Given the description of an element on the screen output the (x, y) to click on. 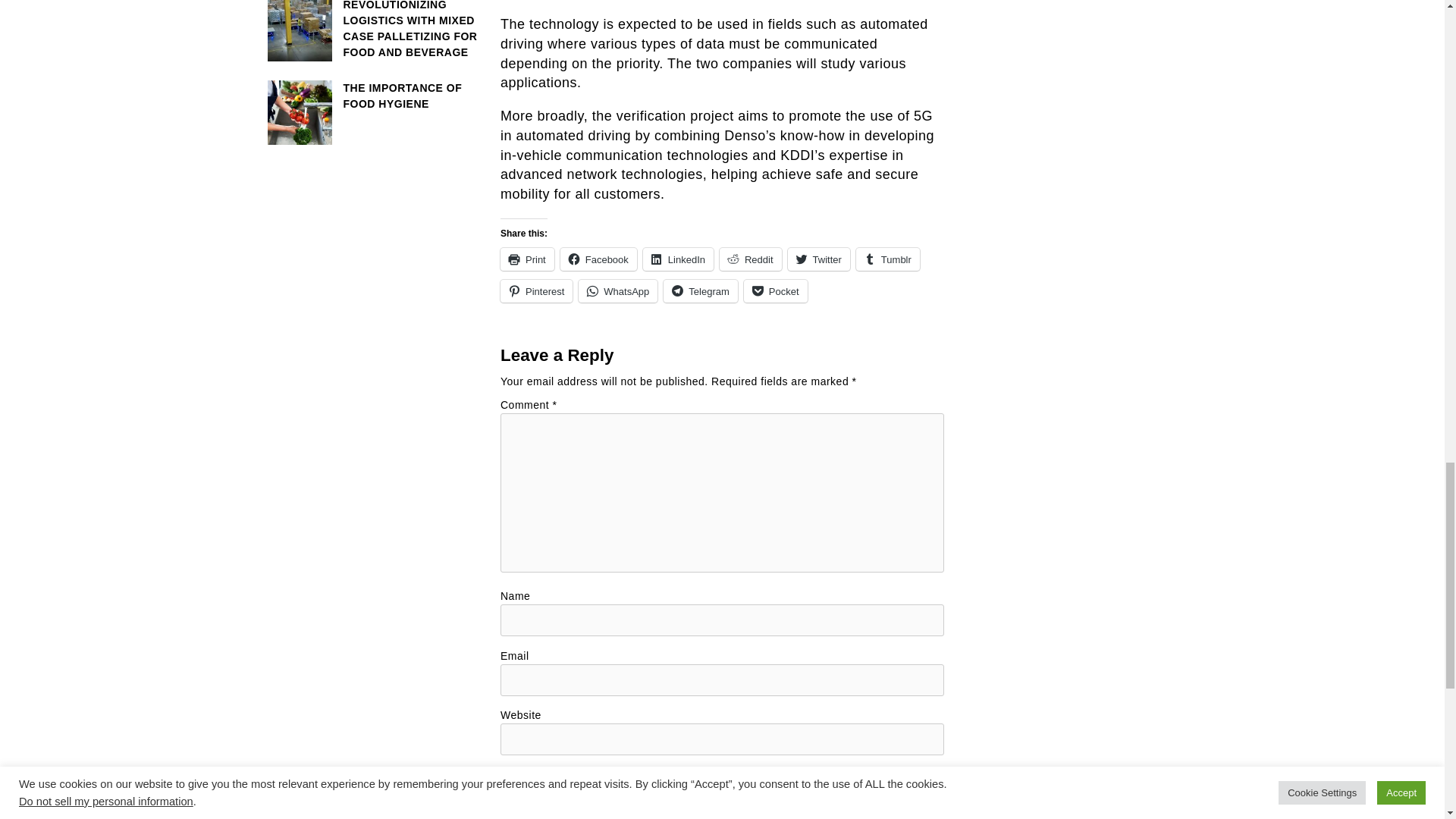
Click to share on Tumblr (888, 259)
Click to share on Reddit (750, 259)
Click to share on Facebook (598, 259)
Post Comment (721, 782)
Click to share on Telegram (699, 291)
Click to share on Pinterest (536, 291)
Click to share on Pocket (776, 291)
Click to print (527, 259)
Click to share on WhatsApp (618, 291)
Click to share on Twitter (818, 259)
Click to share on LinkedIn (678, 259)
